Given the description of an element on the screen output the (x, y) to click on. 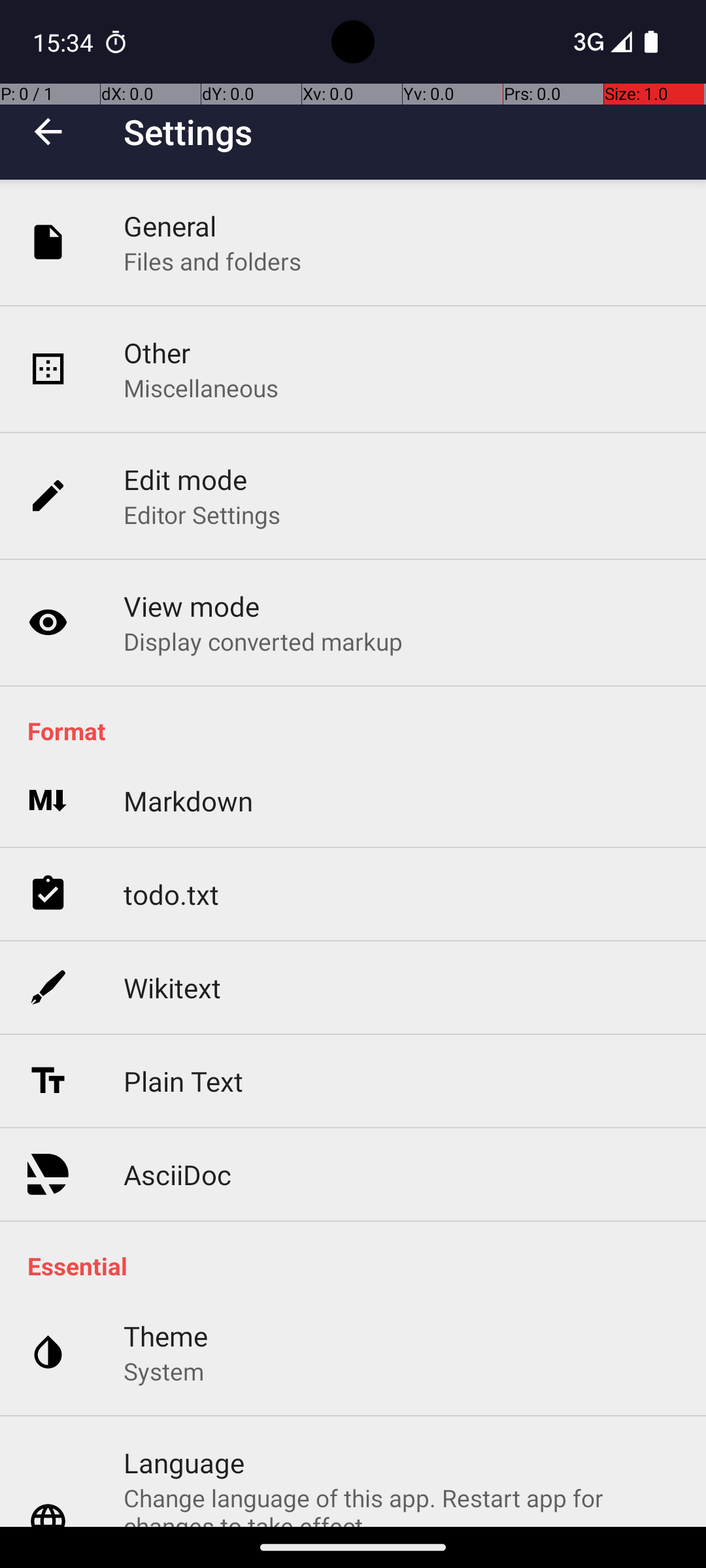
Essential Element type: android.widget.TextView (359, 1265)
Files and folders Element type: android.widget.TextView (212, 260)
Editor Settings Element type: android.widget.TextView (202, 514)
Display converted markup Element type: android.widget.TextView (263, 640)
Change language of this app. Restart app for changes to take effect

English (English, United States) Element type: android.widget.TextView (400, 1503)
